Given the description of an element on the screen output the (x, y) to click on. 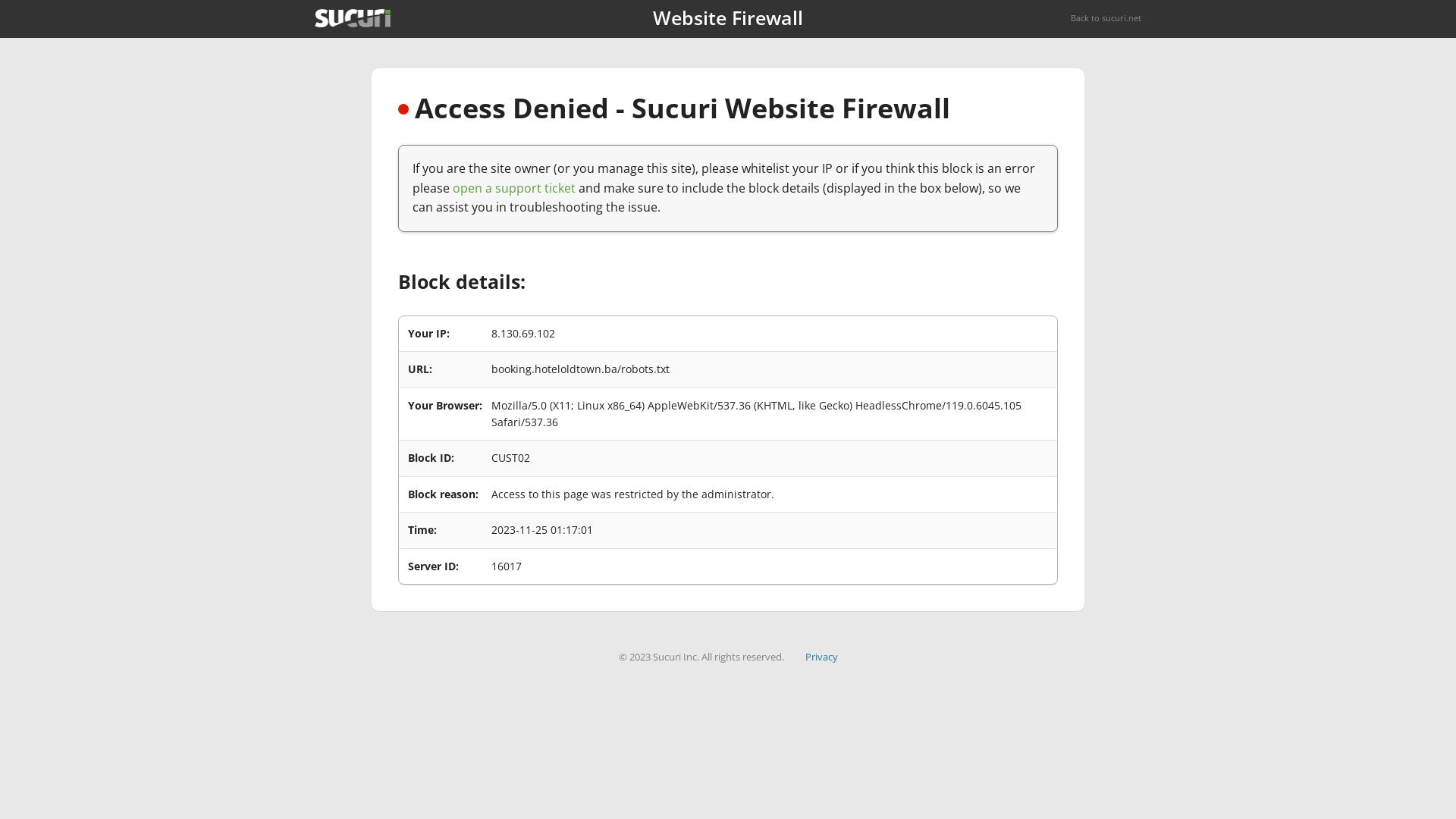
open a support ticket Element type: text (513, 187)
Privacy Element type: text (821, 656)
Back to sucuri.net Element type: text (1105, 18)
